Given the description of an element on the screen output the (x, y) to click on. 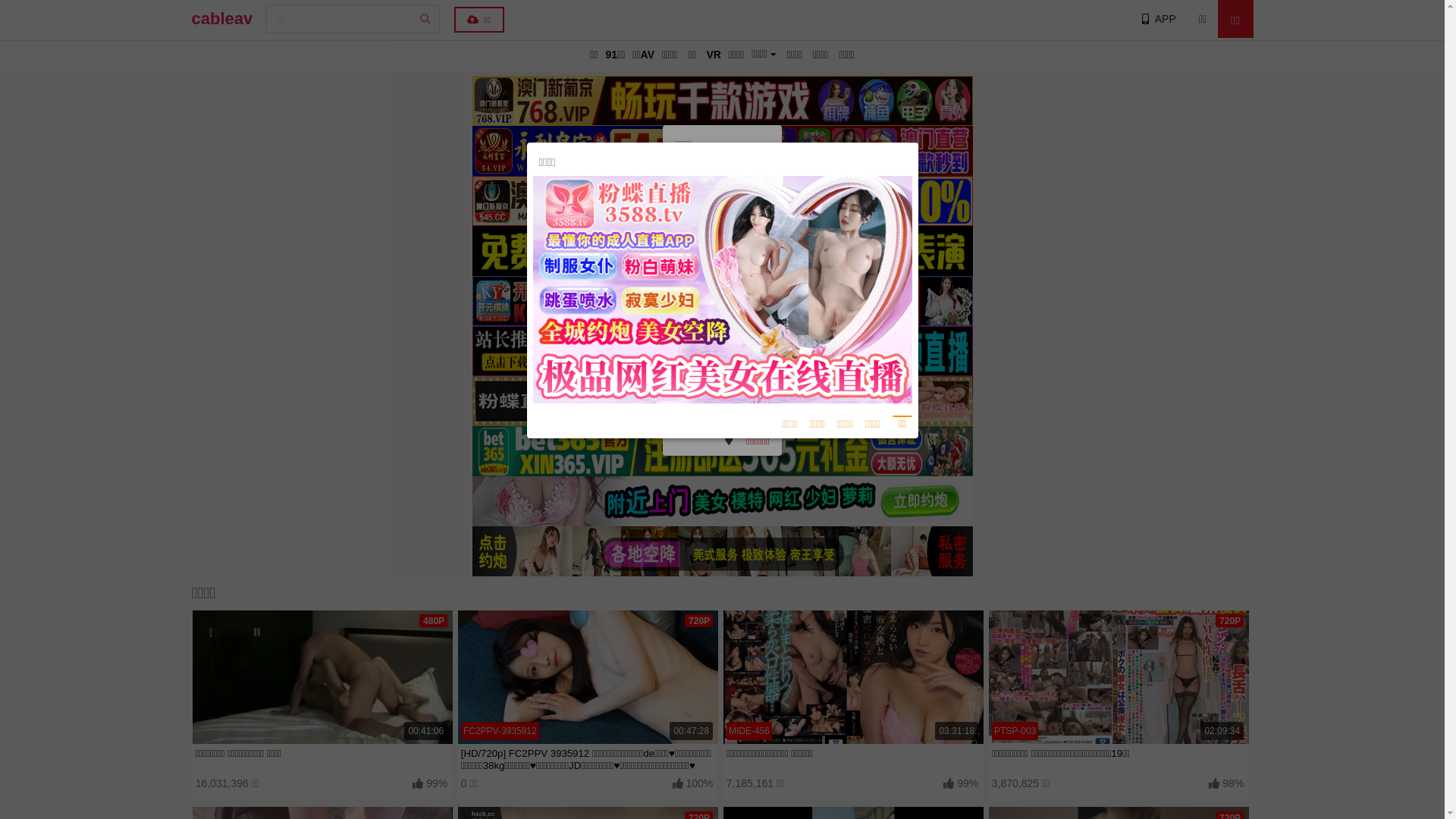
https://cable1951.cc Element type: text (721, 277)
https://cable1980.cc Element type: text (721, 235)
APP Element type: text (1157, 18)
VR Element type: text (713, 54)
https://cable1968.cc Element type: text (721, 256)
cableav Element type: text (221, 18)
00:47:28
720P
FC2PPV-3935912 Element type: text (586, 676)
https://cable1959.cc Element type: text (721, 298)
https://cable1954.cc Element type: text (721, 362)
https://cable1955.cc Element type: text (721, 383)
02:09:34
720P
PTSP-003 Element type: text (1117, 676)
00:41:06
480P Element type: text (321, 676)
https://cable1938.cc Element type: text (721, 404)
https://cable1949.cc Element type: text (721, 341)
https://cable1961.cc Element type: text (721, 319)
https://cable1962.cc Element type: text (721, 213)
03:31:18
MIDE-456 Element type: text (851, 676)
